Given the description of an element on the screen output the (x, y) to click on. 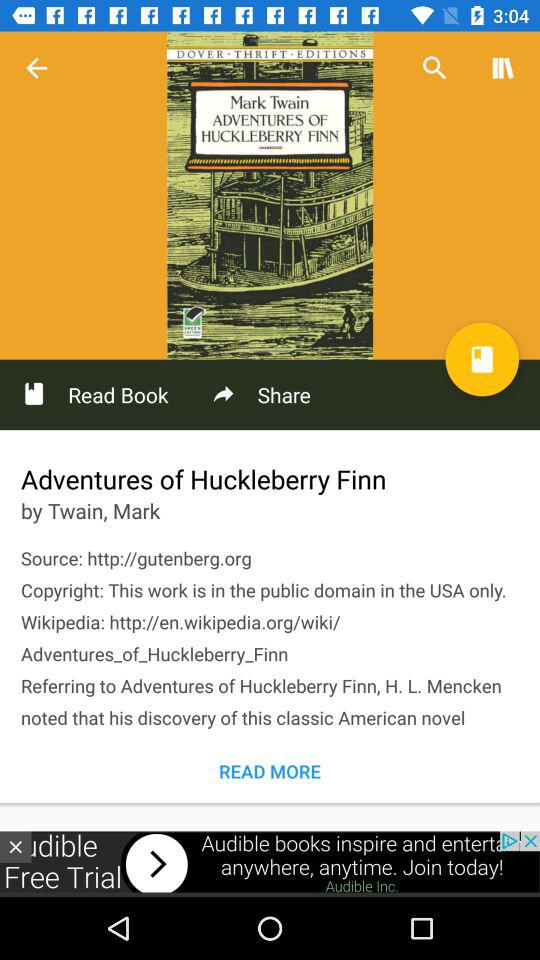
select the text  and icon which is beside read book (260, 395)
select the icon which is next to search icon (503, 68)
